Given the description of an element on the screen output the (x, y) to click on. 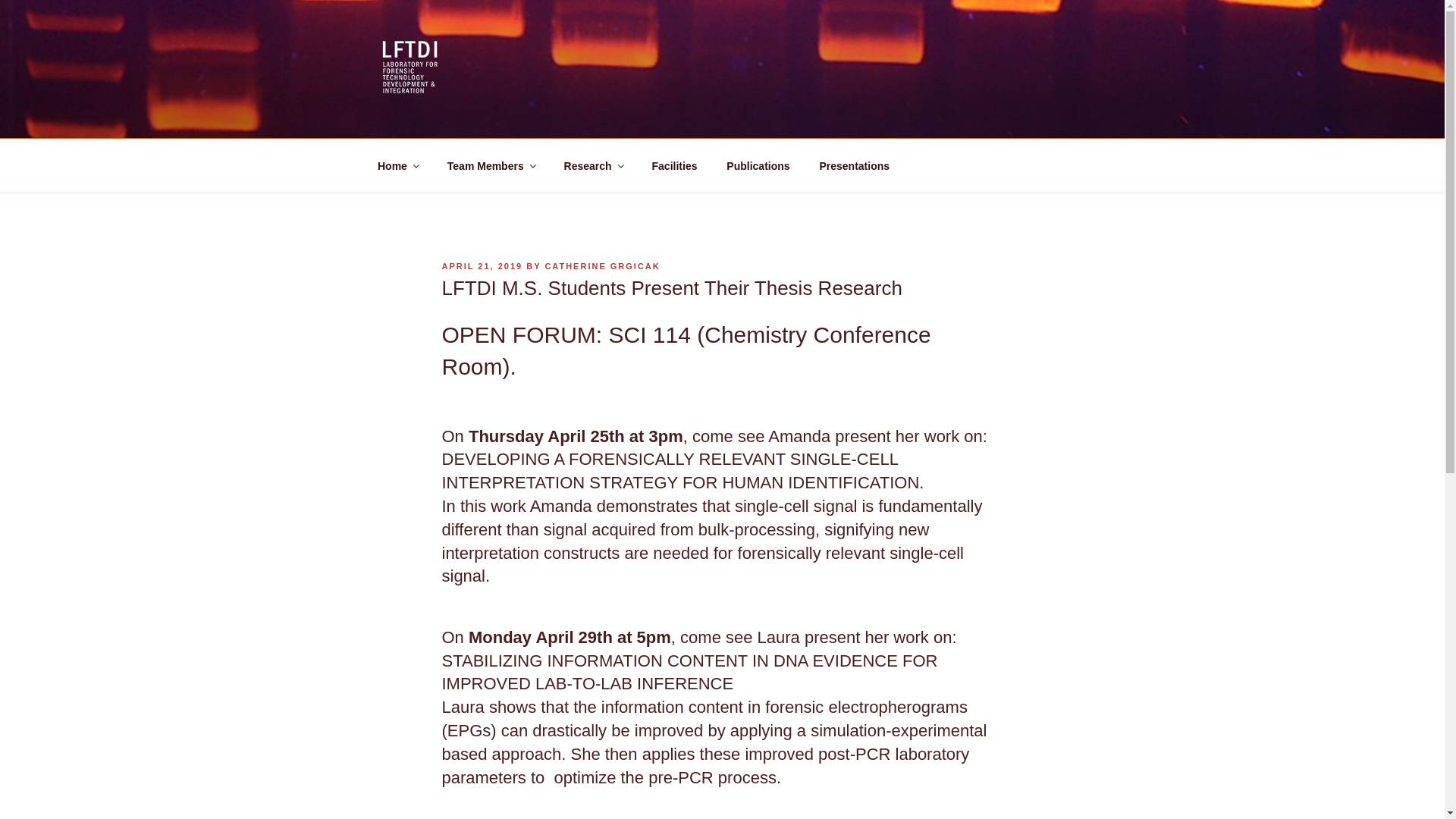
Research (592, 165)
LFTDI (422, 119)
Presentations (854, 165)
Team Members (490, 165)
APRIL 21, 2019 (481, 266)
Publications (758, 165)
CATHERINE GRGICAK (601, 266)
Facilities (674, 165)
Home (397, 165)
